Given the description of an element on the screen output the (x, y) to click on. 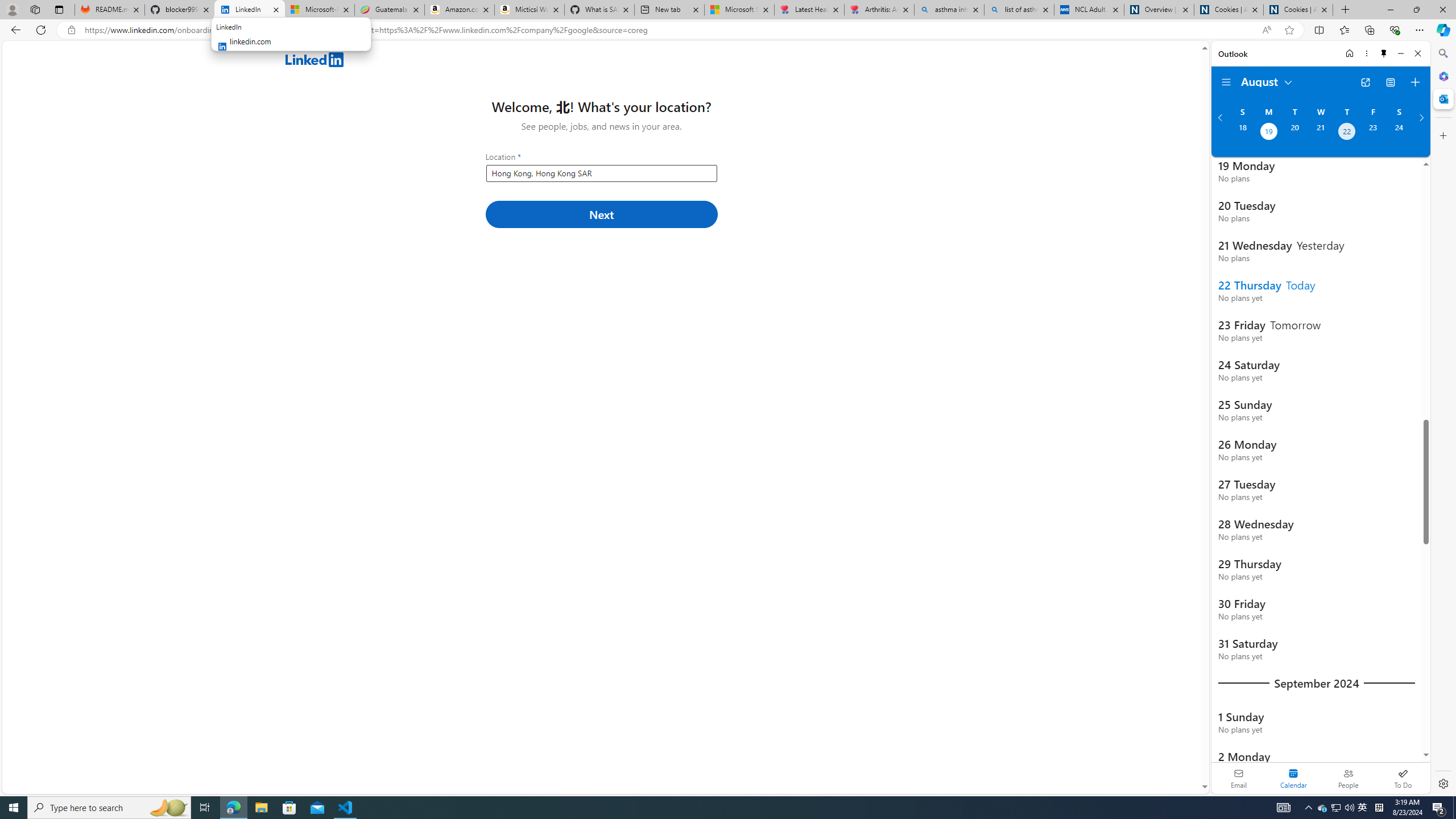
Selected calendar module. Date today is 22 (1293, 777)
Cookies | About | NICE (1297, 9)
Saturday, August 24, 2024.  (1399, 132)
asthma inhaler - Search (949, 9)
